Given the description of an element on the screen output the (x, y) to click on. 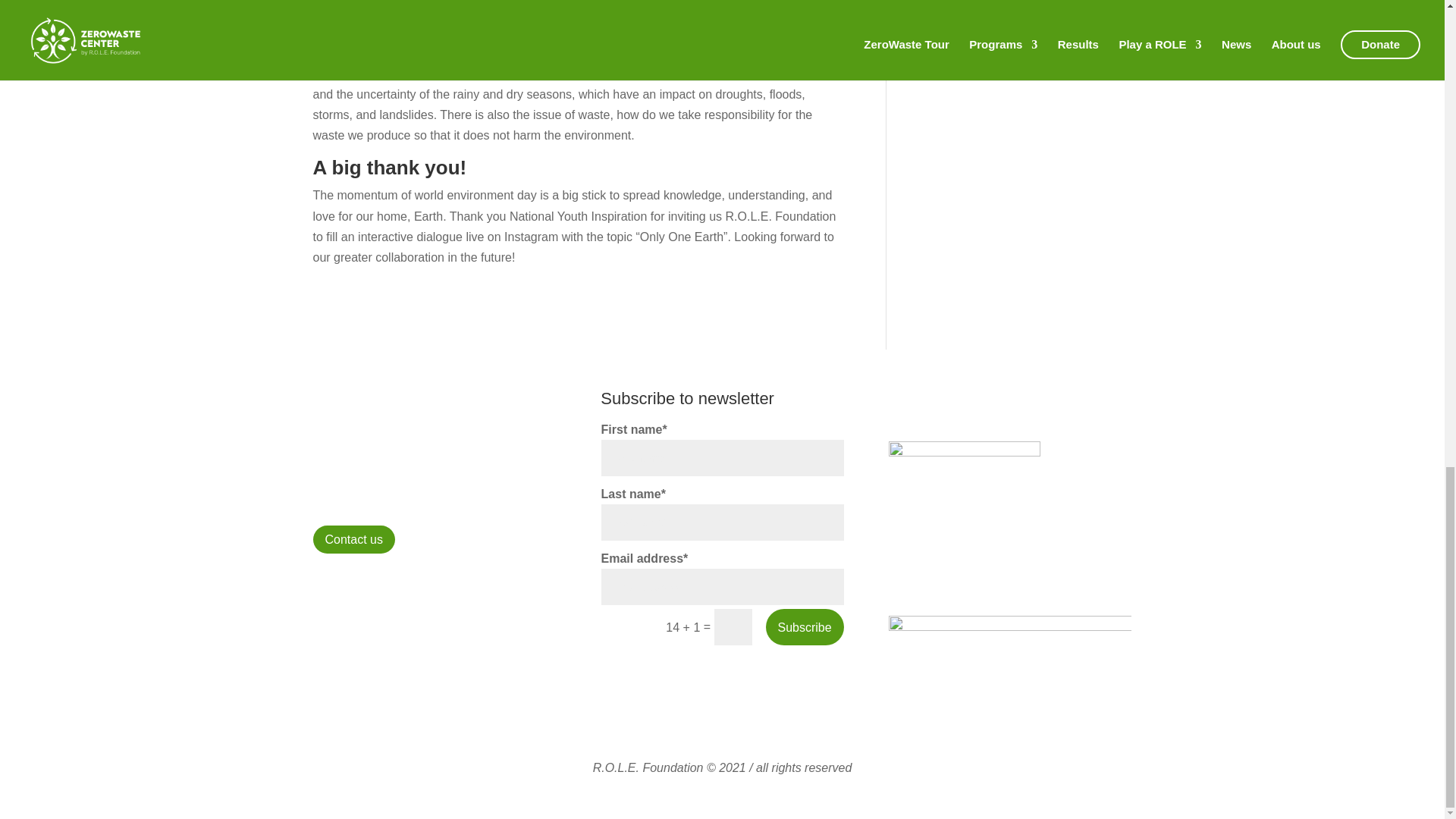
Follow on Instagram (354, 588)
ROLE Logo Landscape (1009, 665)
Follow on Facebook (324, 588)
Follow on Youtube (384, 588)
baliwise logo (964, 516)
Contact us (353, 539)
Subscribe (804, 627)
